Given the description of an element on the screen output the (x, y) to click on. 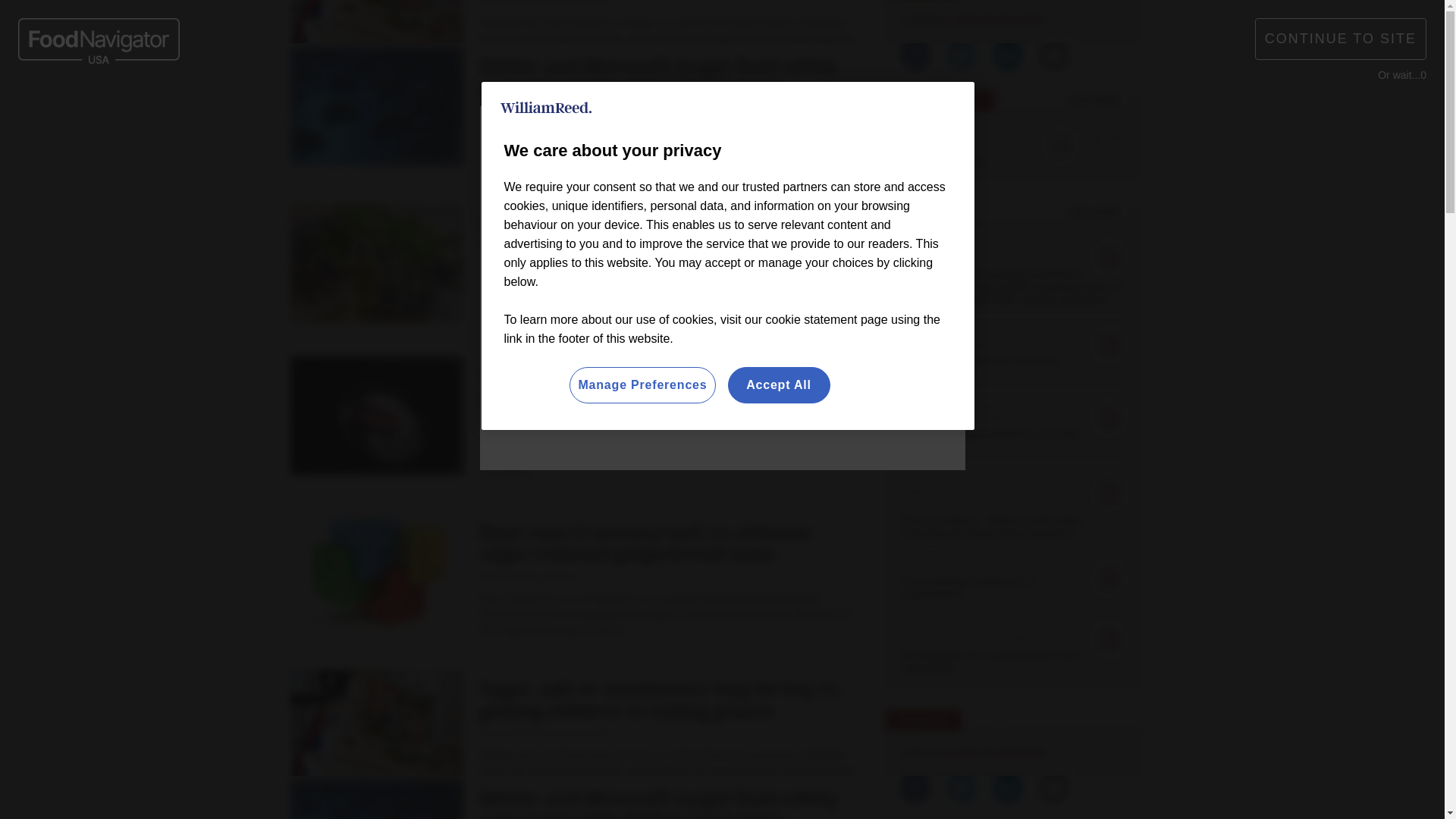
Home (314, 159)
My account (1114, 20)
FoodNavigator USA (403, 89)
Sign out (1032, 20)
News (360, 159)
Sectors (420, 159)
3rd party ad content (722, 423)
William Reed (545, 107)
Send (1129, 89)
Sign in (1029, 20)
3rd party ad content (1020, 715)
LATAM (804, 22)
EUROPE (650, 22)
REGISTER (1110, 20)
